Given the description of an element on the screen output the (x, y) to click on. 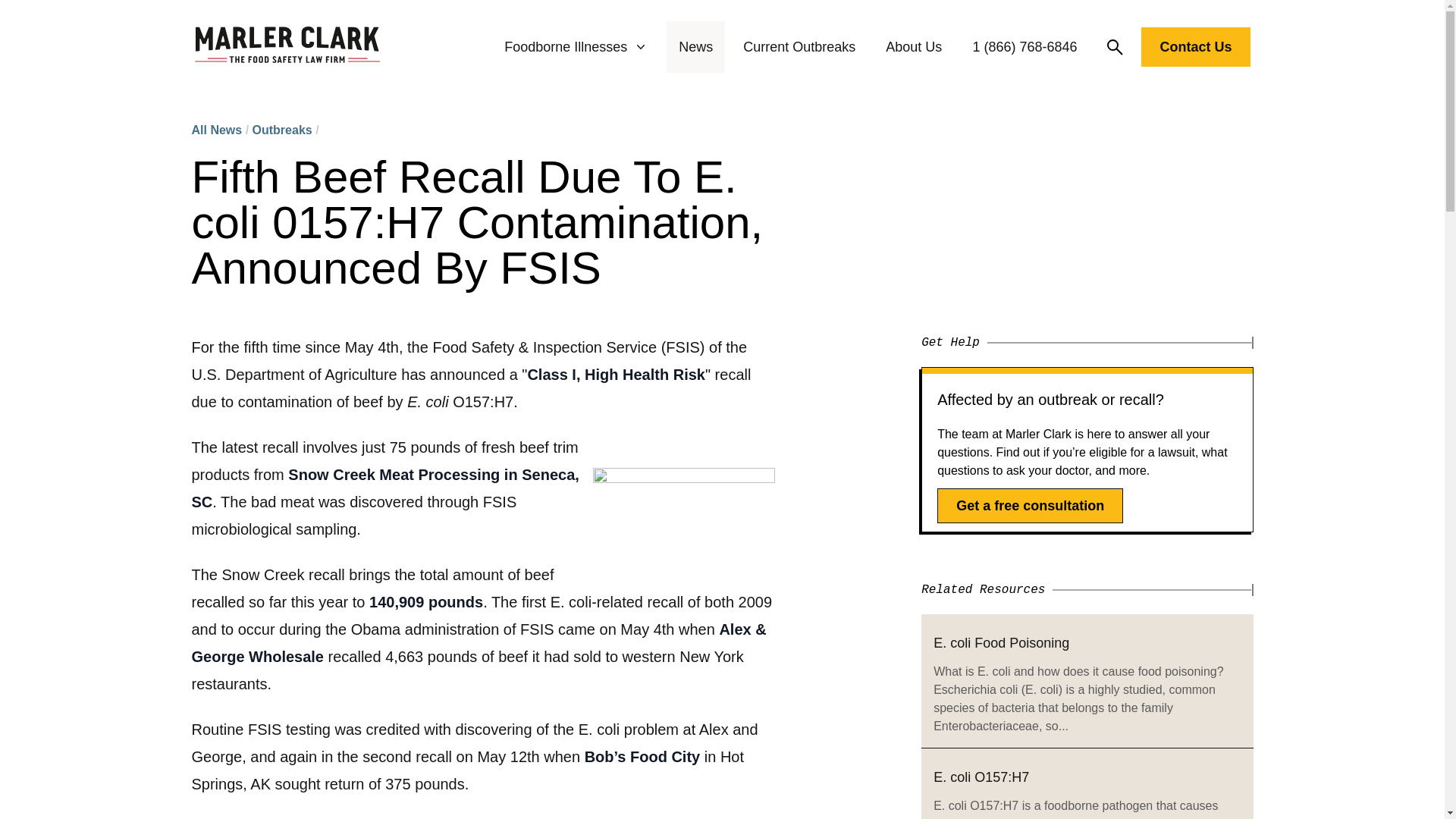
Current Outbreaks (799, 46)
About Us (913, 46)
All News (215, 129)
Foodborne Illnesses (576, 46)
Marler Clark (286, 46)
Outbreaks (282, 129)
News (695, 46)
Contact Us (1195, 49)
Contact Us (1195, 46)
